Given the description of an element on the screen output the (x, y) to click on. 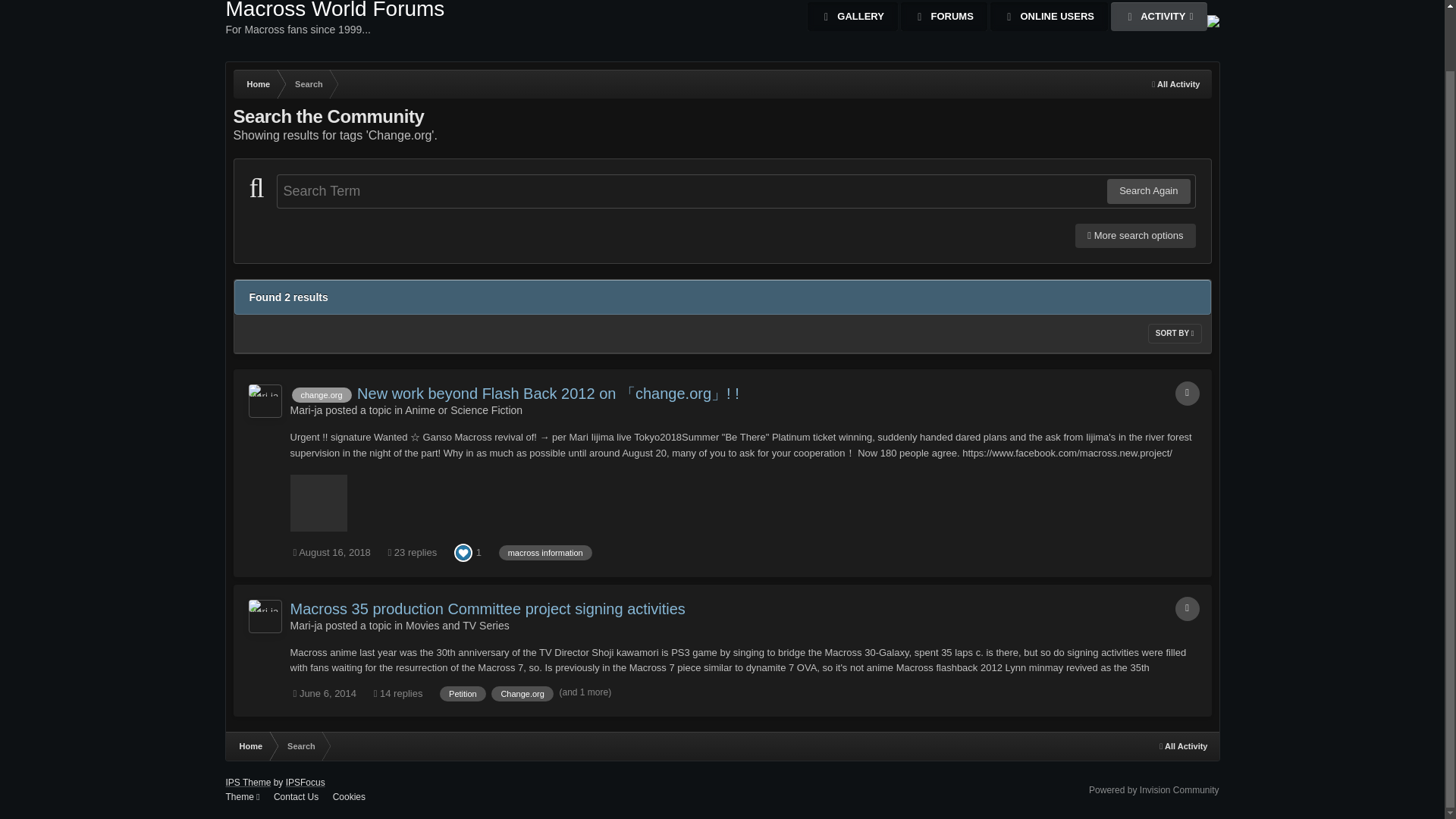
More search options (1135, 235)
Find other content tagged with 'Change.org' (522, 693)
ONLINE USERS (1049, 16)
Topic (1186, 608)
Find other content tagged with 'macross information' (545, 552)
Like (335, 31)
GALLERY (462, 551)
ACTIVITY (853, 16)
Search Again (1158, 16)
Go to Mari-ja's profile (1147, 191)
Find other content tagged with 'Petition' (265, 400)
Go to Mari-ja's profile (462, 693)
Search (265, 616)
Topic (307, 83)
